Given the description of an element on the screen output the (x, y) to click on. 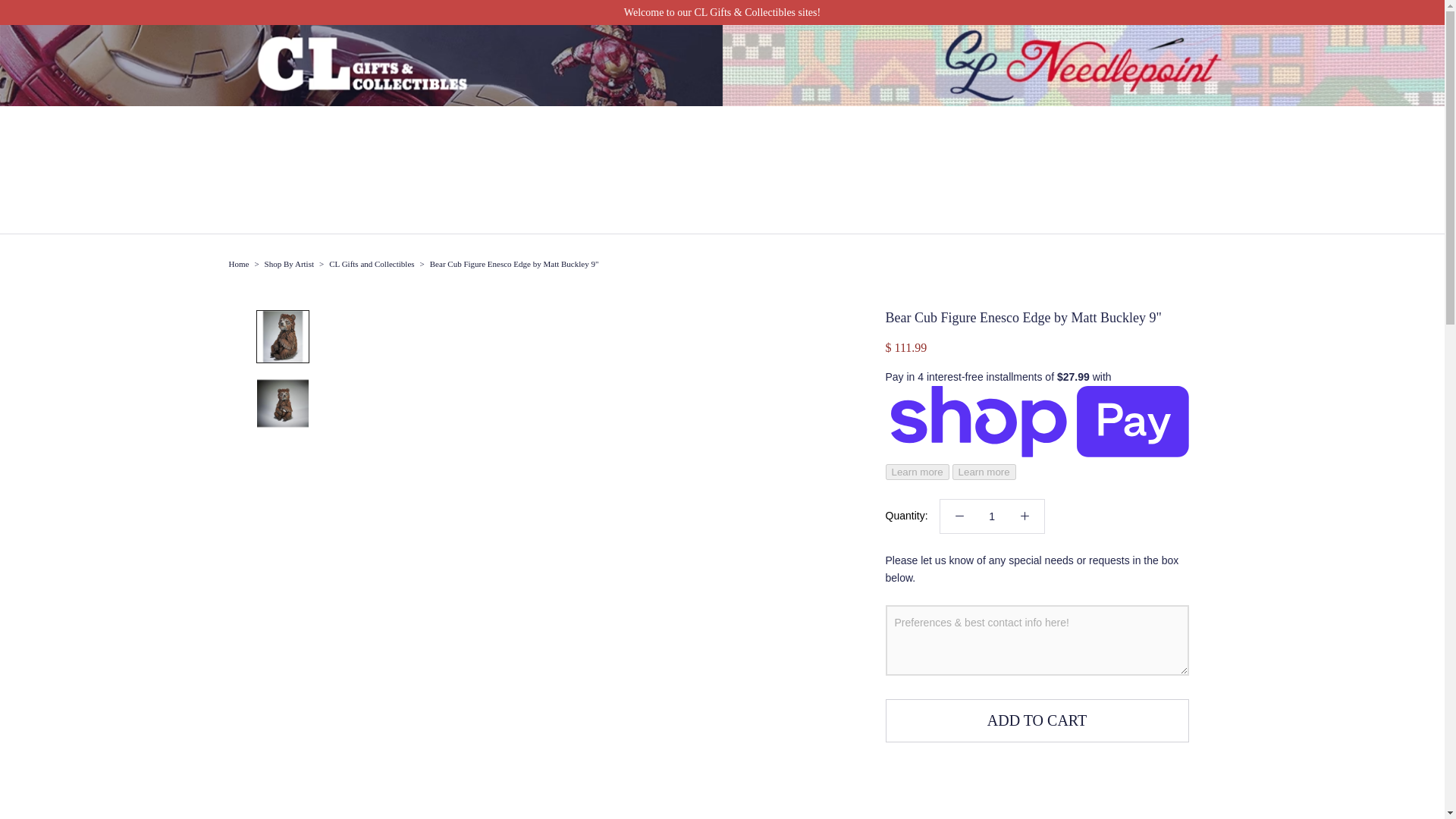
US (1259, 223)
CL Gifts and Collectibles (371, 264)
CL Gifts and Collectibles (371, 264)
CA (1259, 203)
1 (992, 516)
CL Gifts and Collectibles (238, 264)
Home (238, 264)
